Given the description of an element on the screen output the (x, y) to click on. 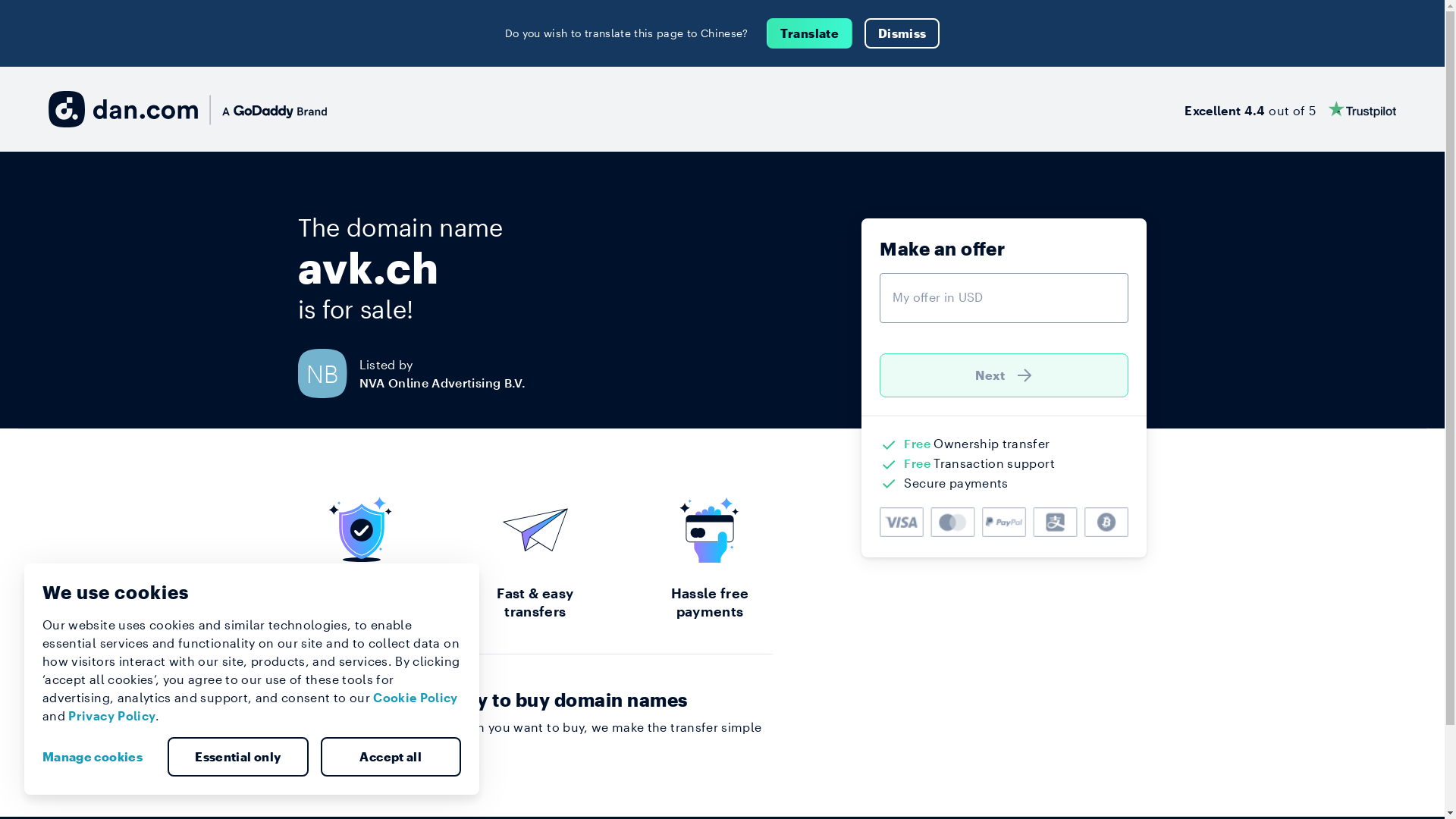
Excellent 4.4 out of 5 Element type: text (1290, 109)
Privacy Policy Element type: text (111, 715)
Dismiss Element type: text (901, 33)
Essential only Element type: text (237, 756)
Manage cookies Element type: text (98, 756)
Next
) Element type: text (1003, 375)
Translate Element type: text (809, 33)
Accept all Element type: text (390, 756)
Cookie Policy Element type: text (415, 697)
